Given the description of an element on the screen output the (x, y) to click on. 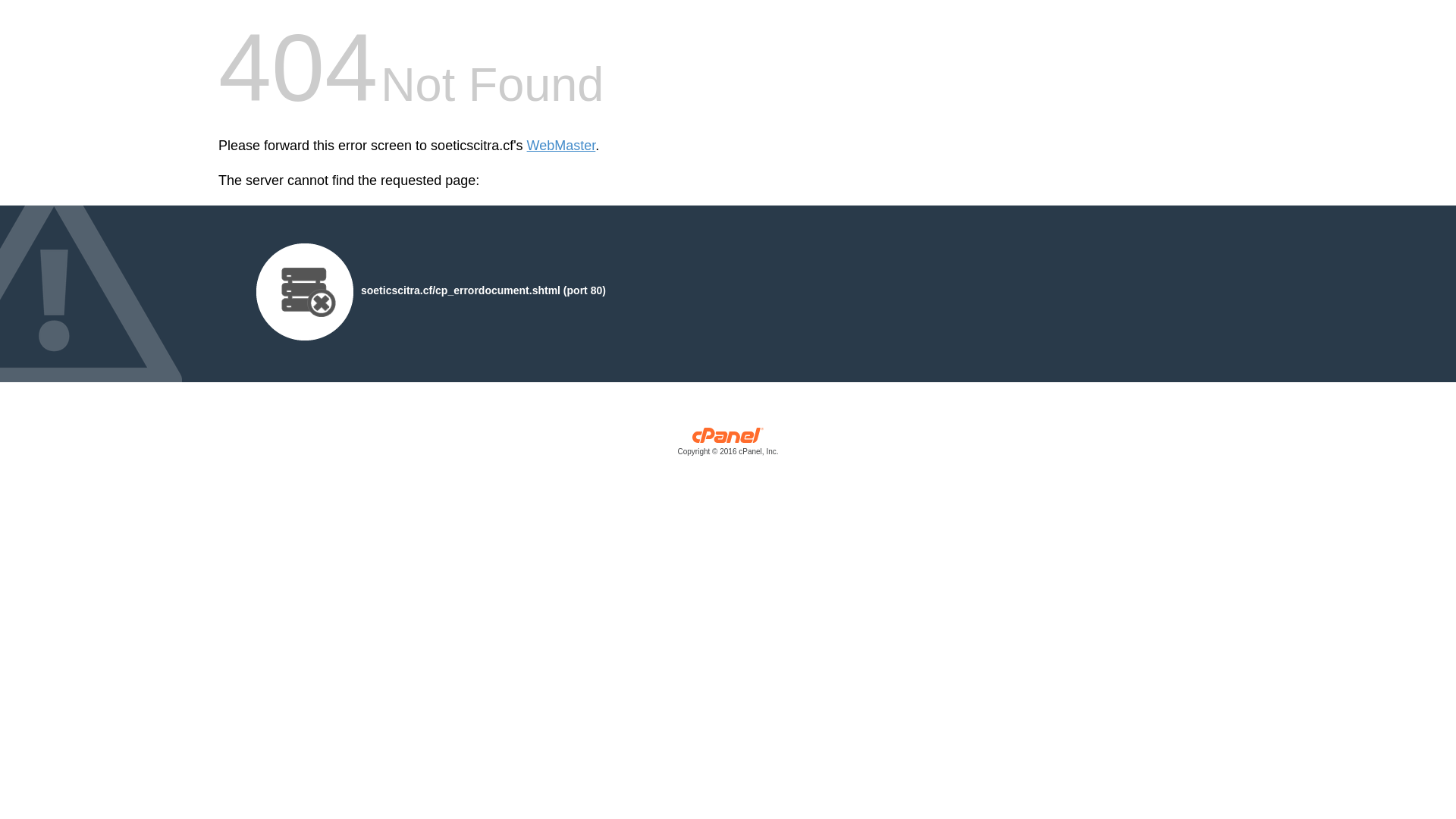
WebMaster Element type: text (561, 145)
